Given the description of an element on the screen output the (x, y) to click on. 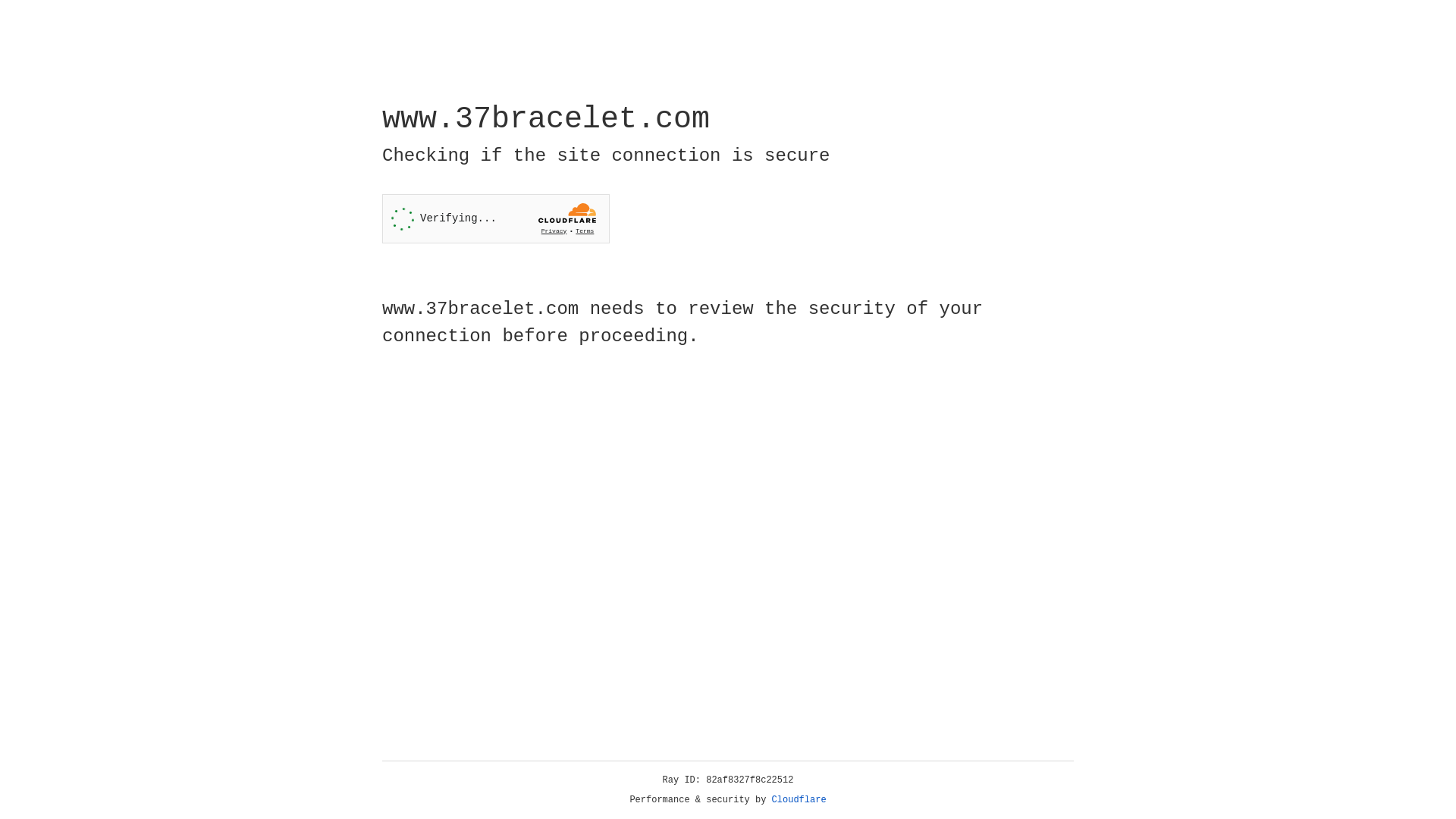
Widget containing a Cloudflare security challenge Element type: hover (495, 218)
Cloudflare Element type: text (798, 799)
